Given the description of an element on the screen output the (x, y) to click on. 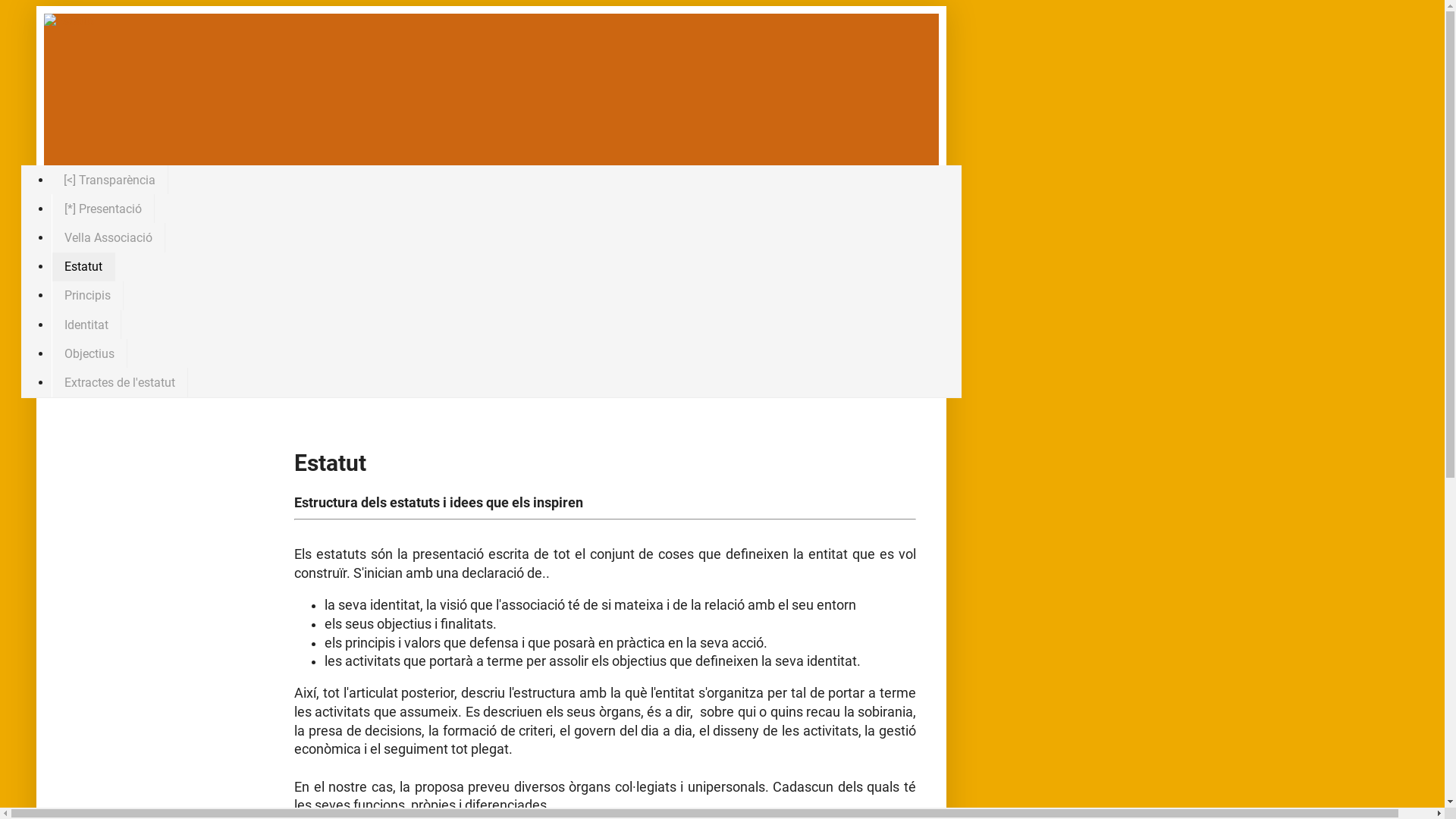
Estatut Element type: text (83, 266)
Objectius Element type: text (89, 352)
Extractes de l'estatut Element type: text (119, 381)
Identitat Element type: text (86, 324)
Principis Element type: text (87, 295)
